Given the description of an element on the screen output the (x, y) to click on. 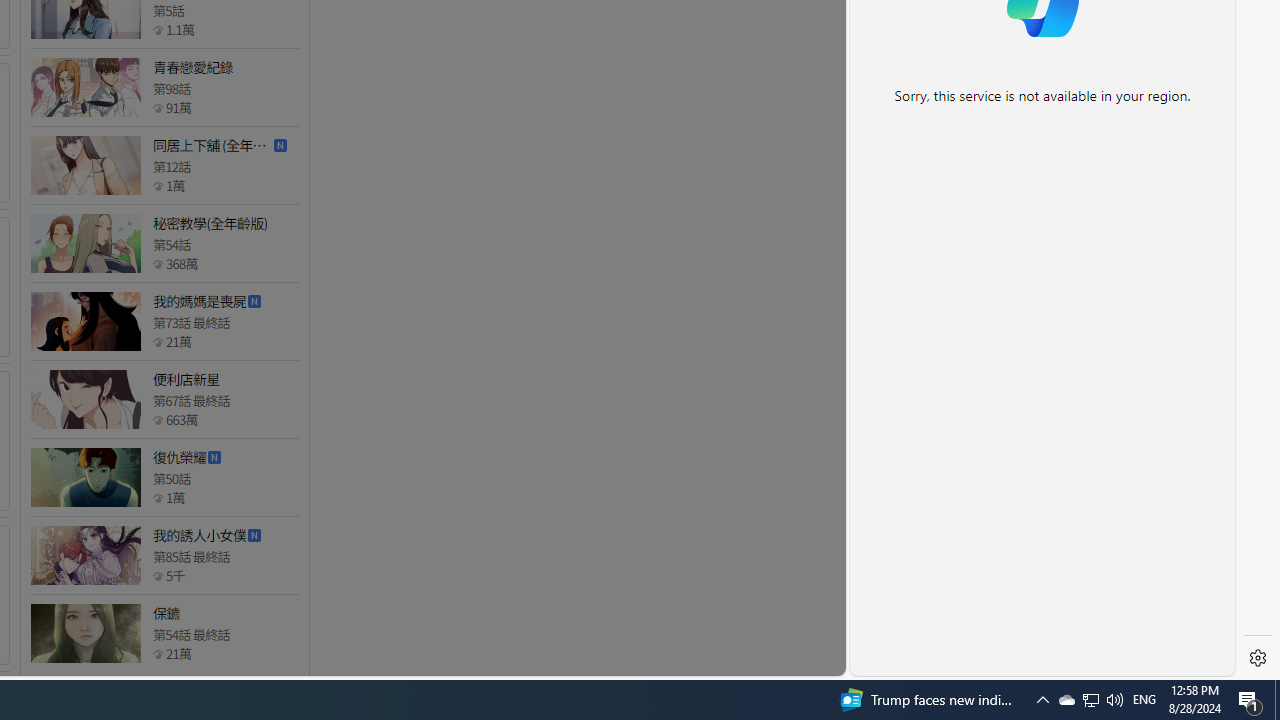
Class: epicon_starpoint (158, 653)
